Given the description of an element on the screen output the (x, y) to click on. 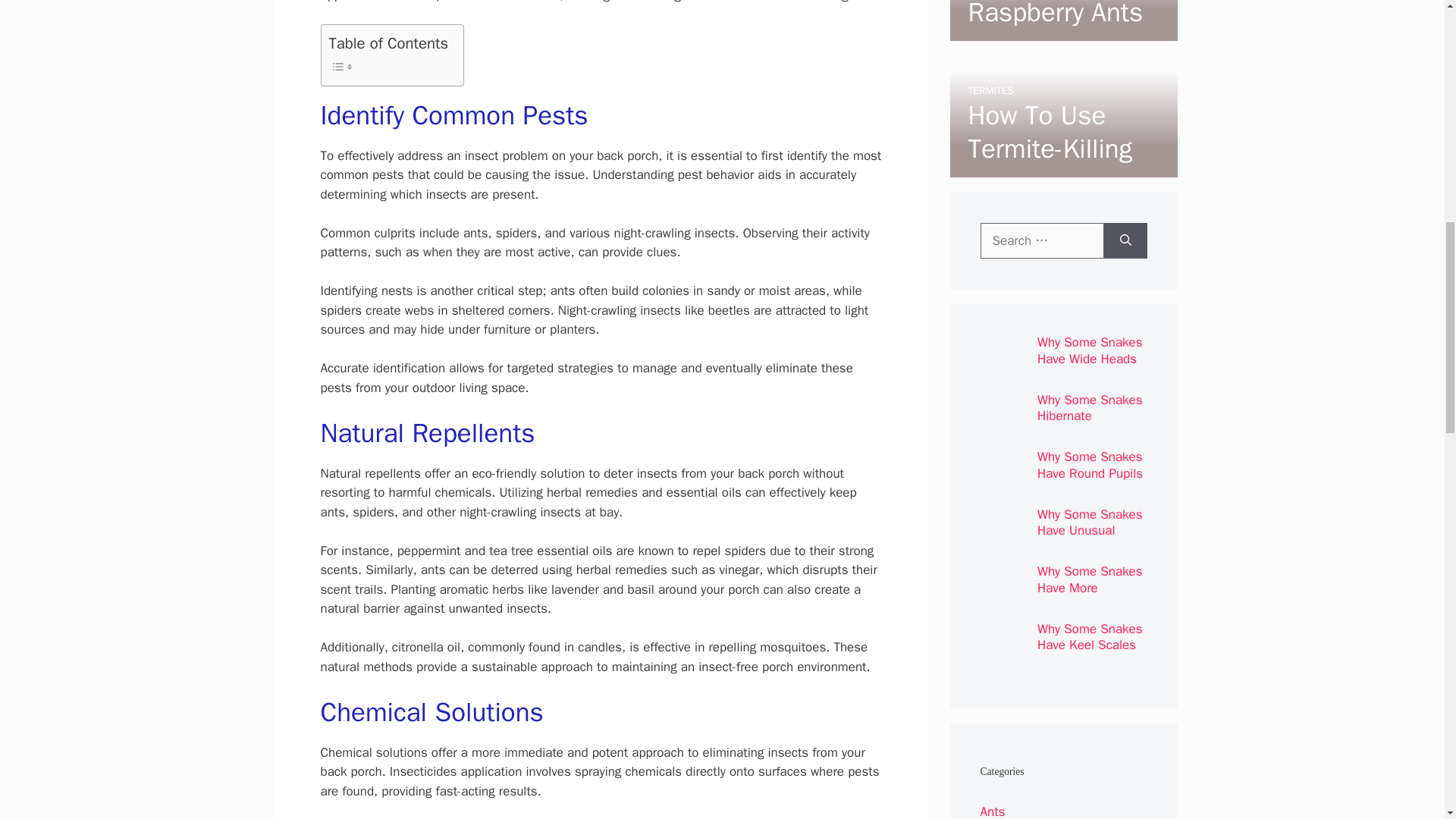
How To Use Termite-Killing Chemicals In Trees (1050, 165)
Why Some Snakes Have Wide Heads (1089, 350)
Why Some Snakes Hibernate (1089, 408)
TERMITES (990, 90)
Identifying Raspberry Ants By Their Swarm (1057, 31)
